Given the description of an element on the screen output the (x, y) to click on. 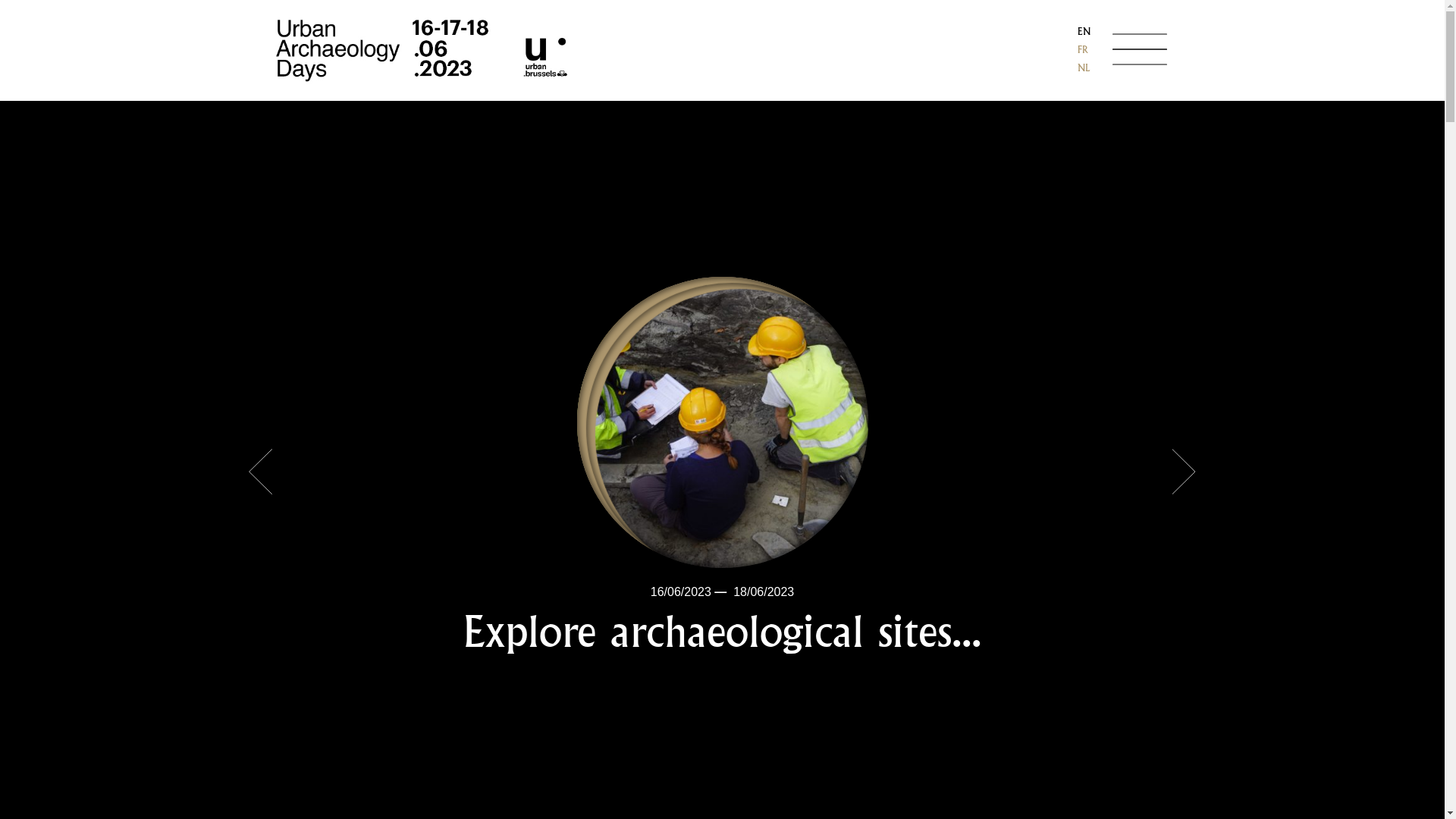
FR Element type: text (1083, 50)
NL Element type: text (1083, 68)
EN Element type: text (1083, 32)
